Given the description of an element on the screen output the (x, y) to click on. 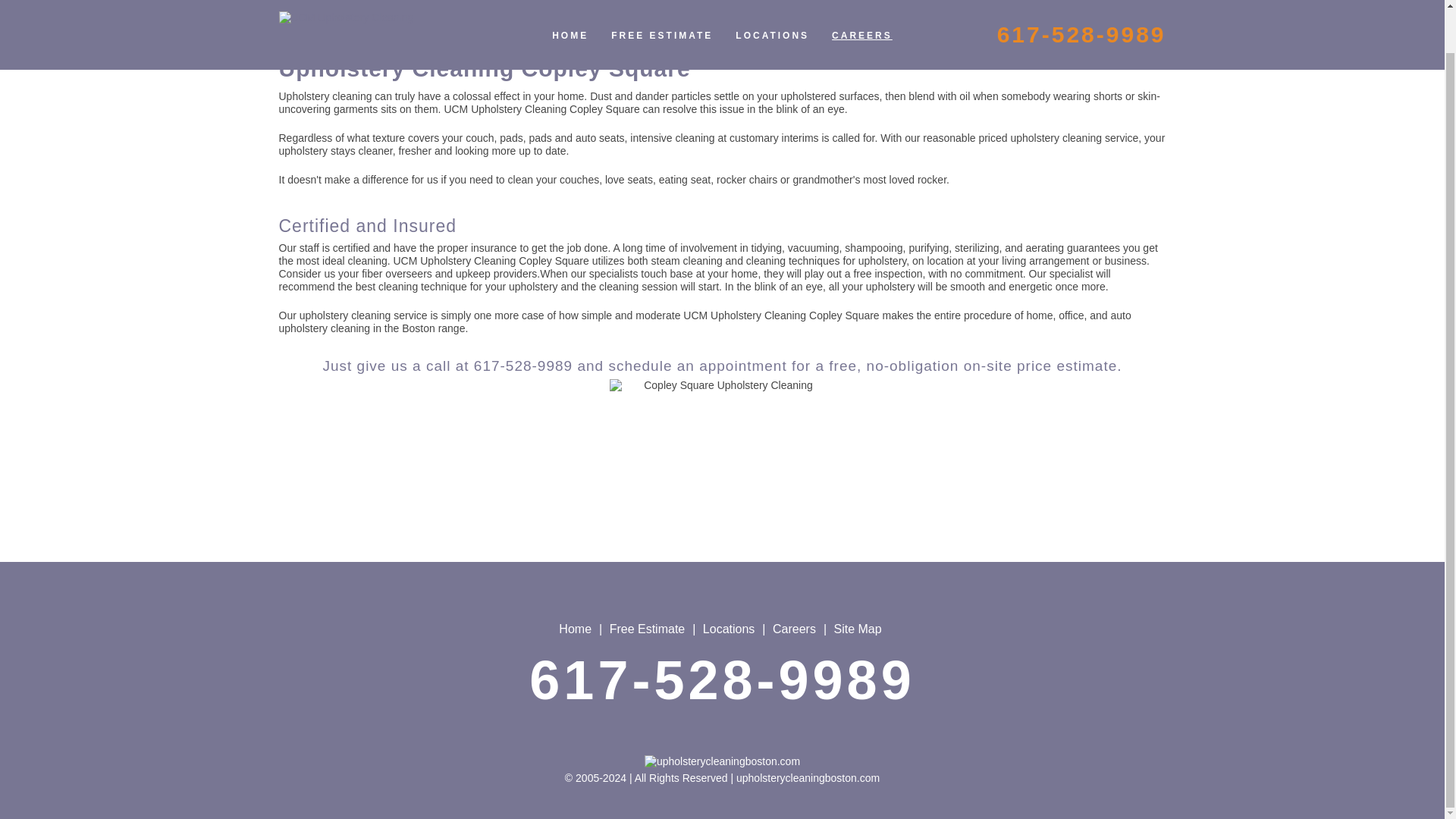
upholsterycleaningboston.com (722, 761)
Home (575, 629)
Site Map (856, 629)
UCM Upholstery Cleaning (381, 6)
FREE ESTIMATE (661, 3)
HOME (569, 3)
Free Estimate (647, 629)
Careers (794, 629)
Copley Square Upholstery Cleaning (722, 493)
Locations (729, 629)
LOCATIONS (772, 3)
617-528-9989 (721, 680)
CAREERS (862, 3)
